Given the description of an element on the screen output the (x, y) to click on. 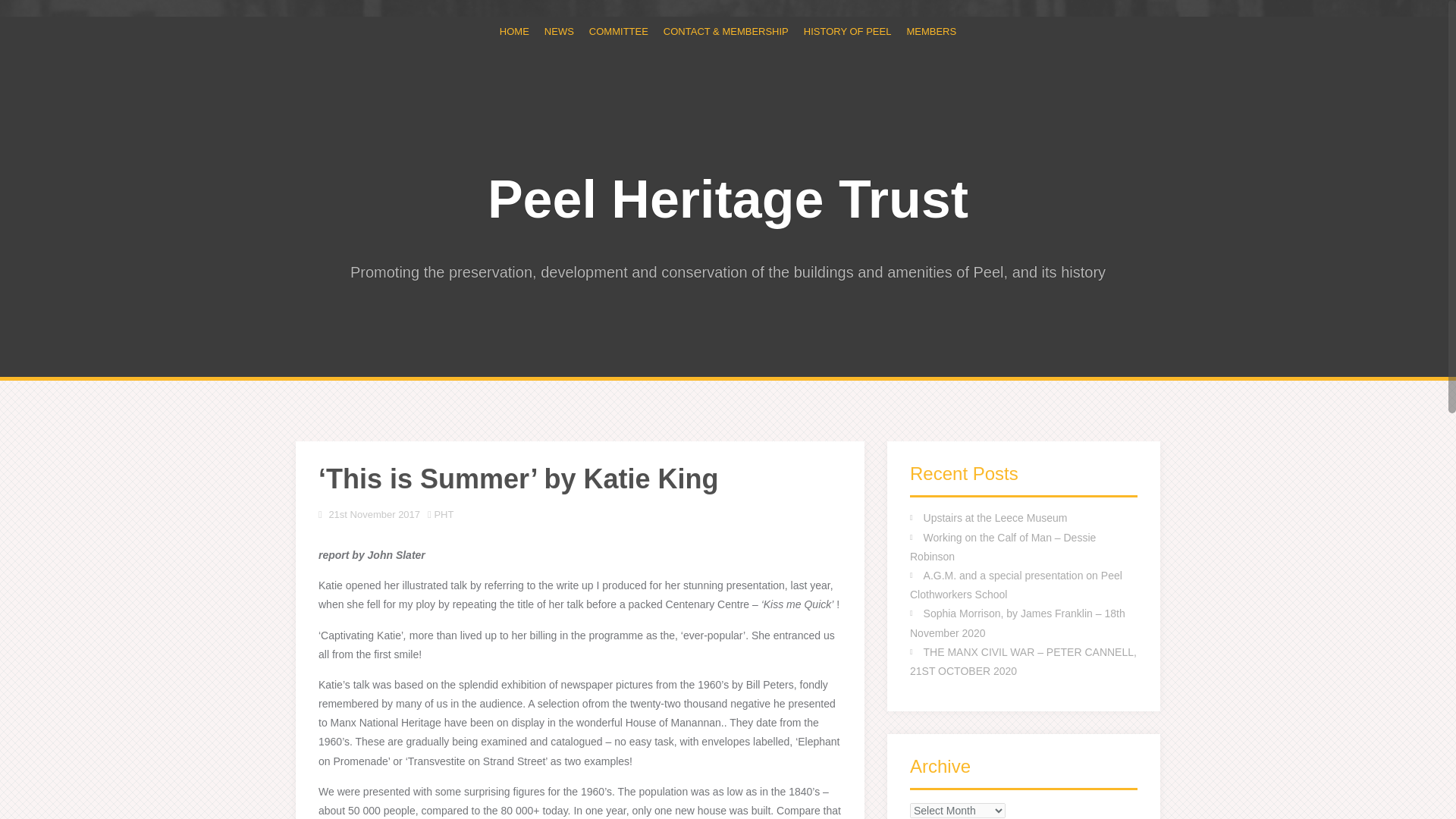
21st November 2017 (374, 514)
Upstairs at the Leece Museum (995, 517)
MEMBERS (930, 31)
NEWS (558, 31)
HOME (514, 31)
PHT (442, 514)
HISTORY OF PEEL (847, 31)
COMMITTEE (618, 31)
Peel Heritage Trust (727, 199)
